Given the description of an element on the screen output the (x, y) to click on. 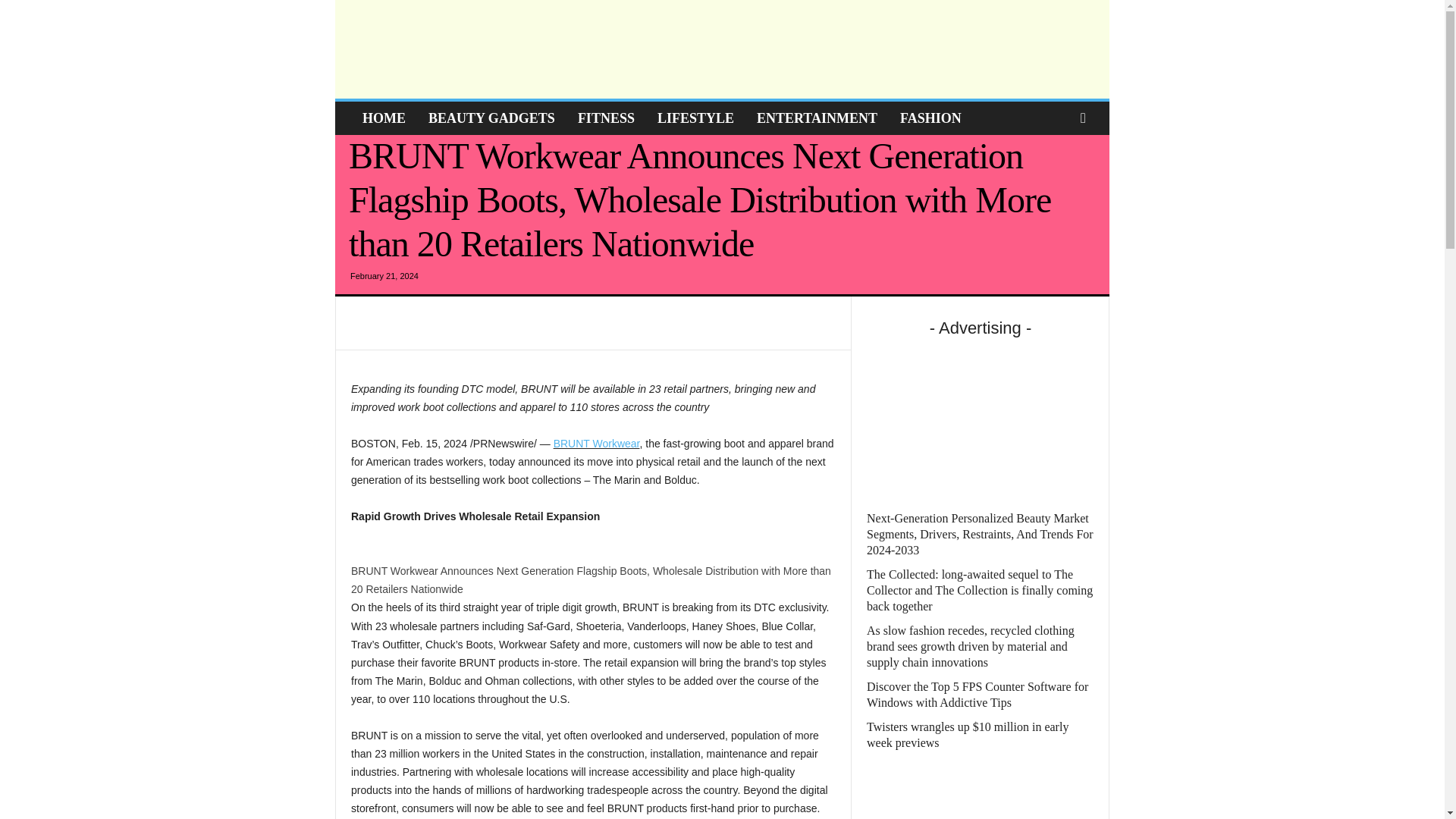
LIFESTYLE (695, 118)
ENTERTAINMENT (816, 118)
BEAUTY GADGETS (491, 118)
Beauty news (443, 49)
BRUNT Workwear (596, 443)
FITNESS (606, 118)
Beauty News (442, 48)
FASHION (930, 118)
HOME (383, 118)
